Given the description of an element on the screen output the (x, y) to click on. 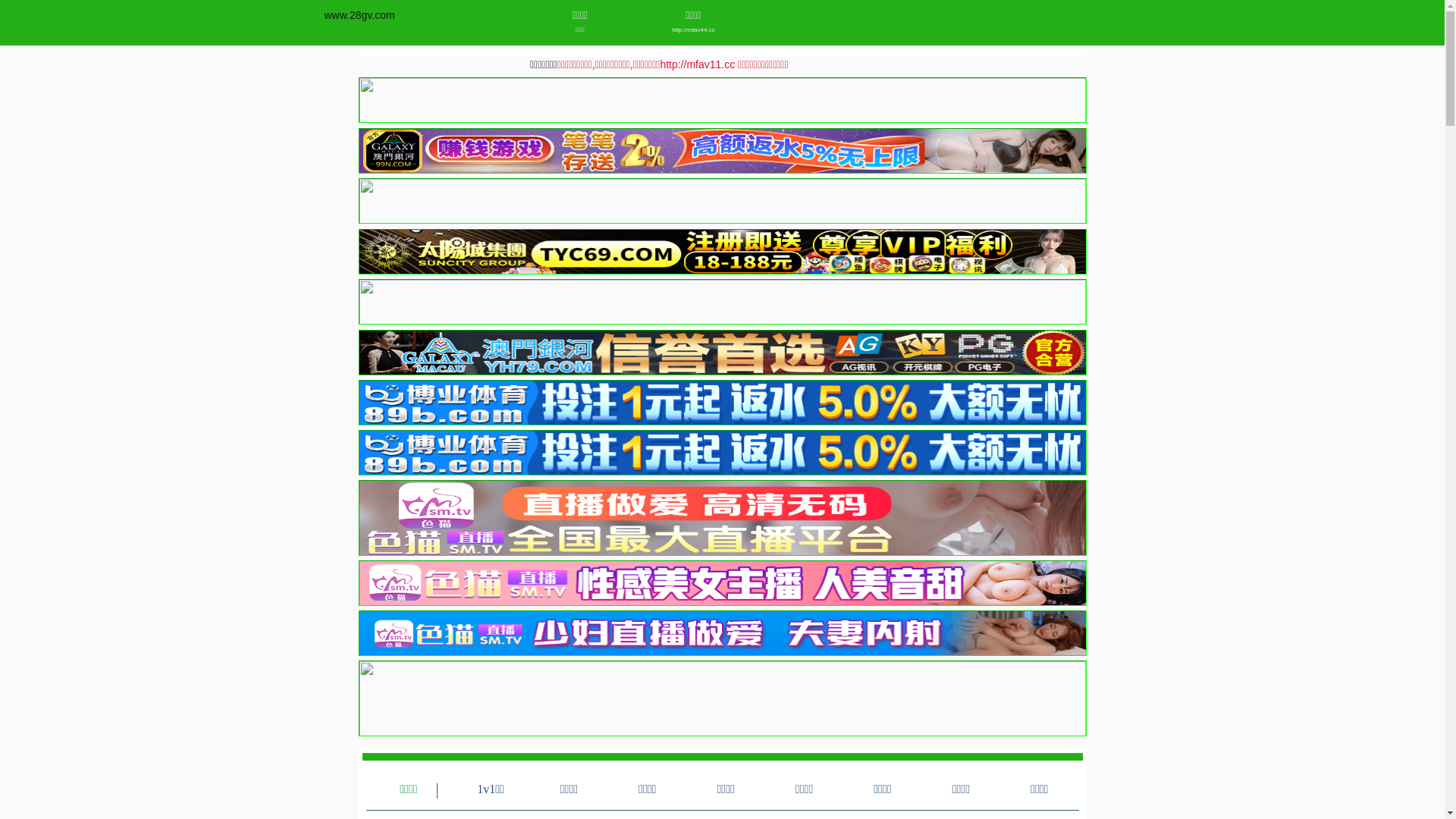
www.28gv.com Element type: text (359, 15)
http://mfav44.cc Element type: text (693, 29)
